Given the description of an element on the screen output the (x, y) to click on. 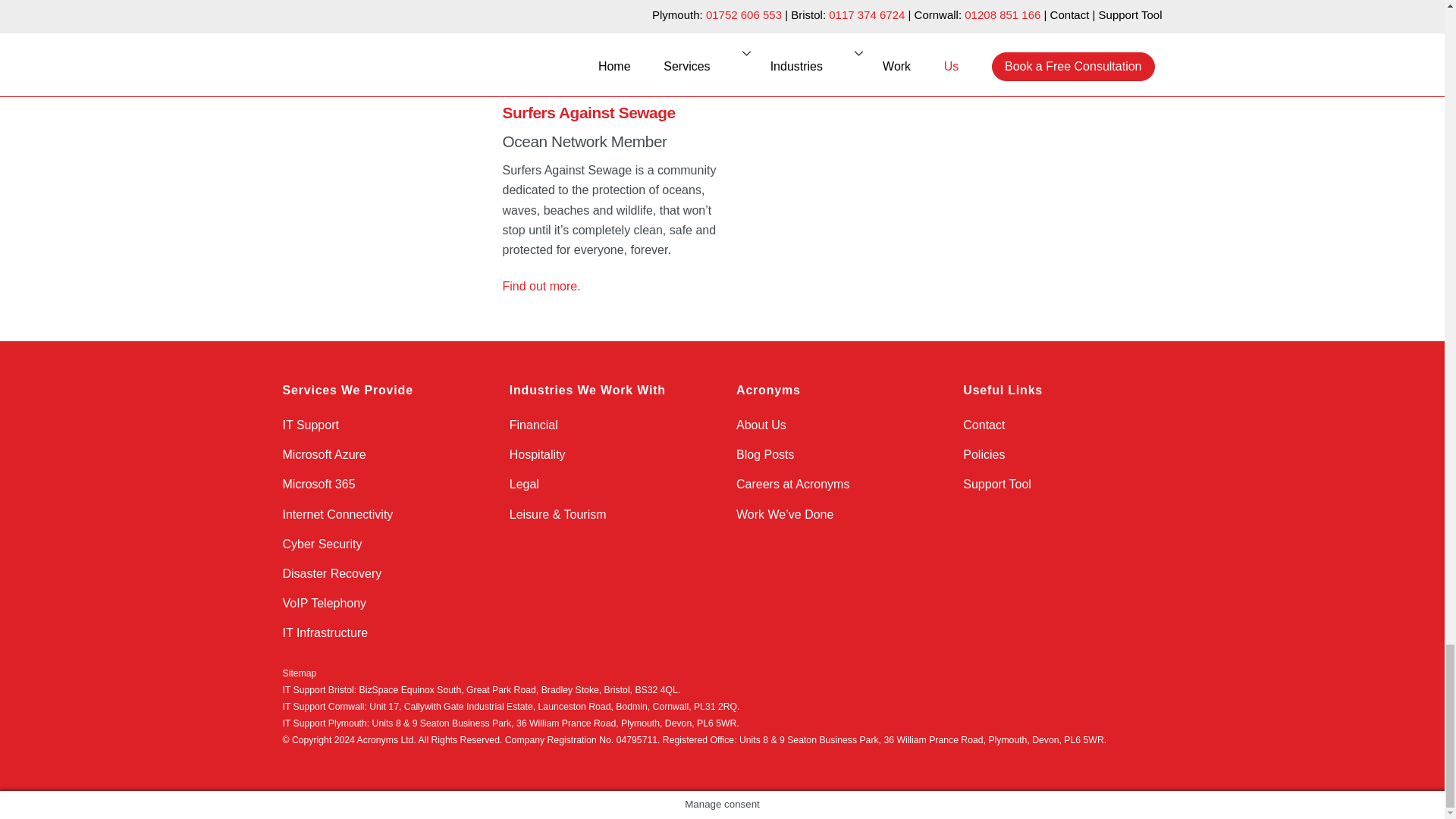
About (391, 206)
Find out more. (558, 31)
